Given the description of an element on the screen output the (x, y) to click on. 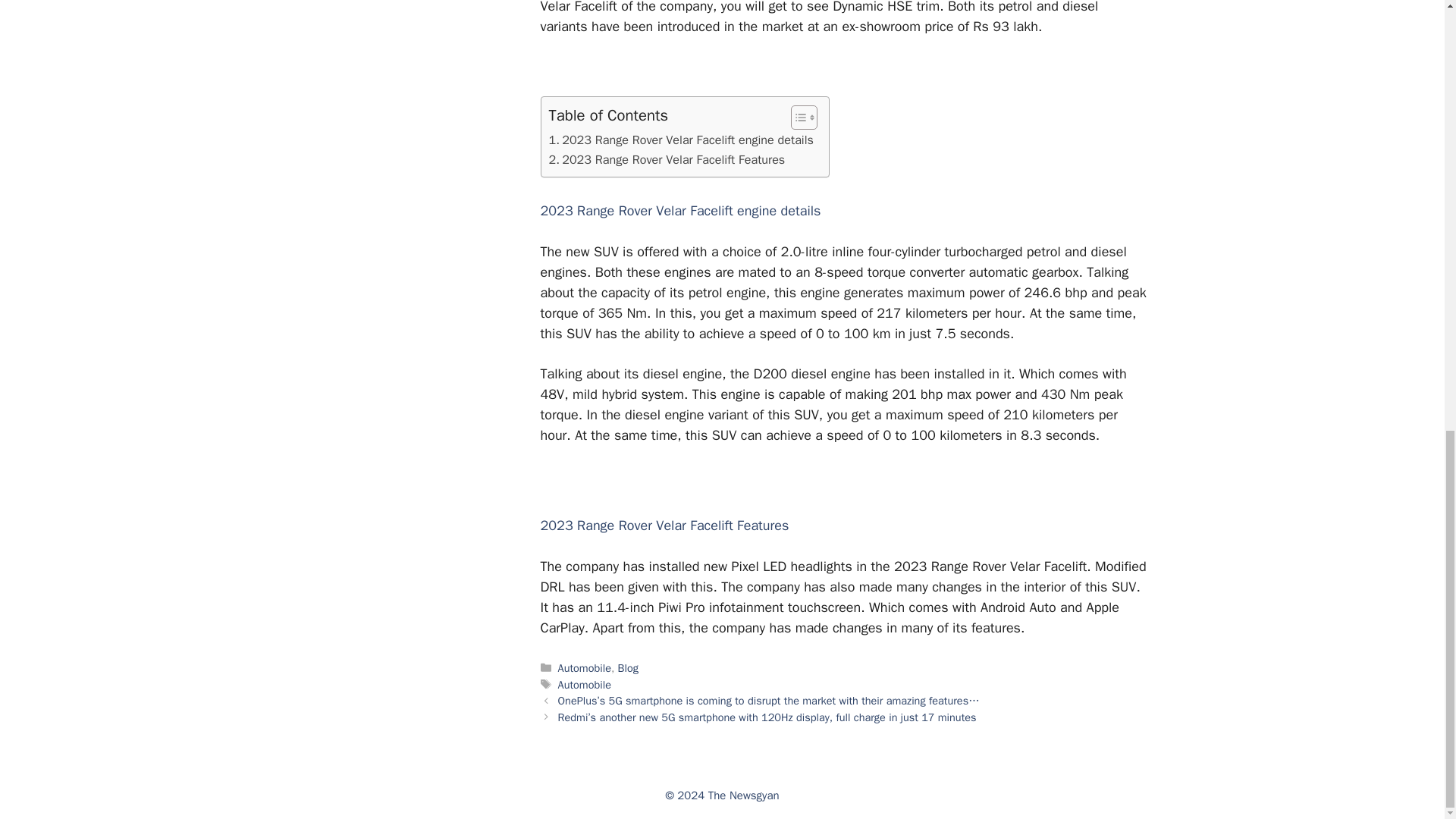
Automobile (584, 667)
2023 Range Rover Velar Facelift engine details (680, 139)
Automobile (584, 684)
2023 Range Rover Velar Facelift engine details (680, 139)
2023 Range Rover Velar Facelift Features (667, 159)
Scroll back to top (1406, 627)
2023 Range Rover Velar Facelift Features (667, 159)
Blog (628, 667)
